Given the description of an element on the screen output the (x, y) to click on. 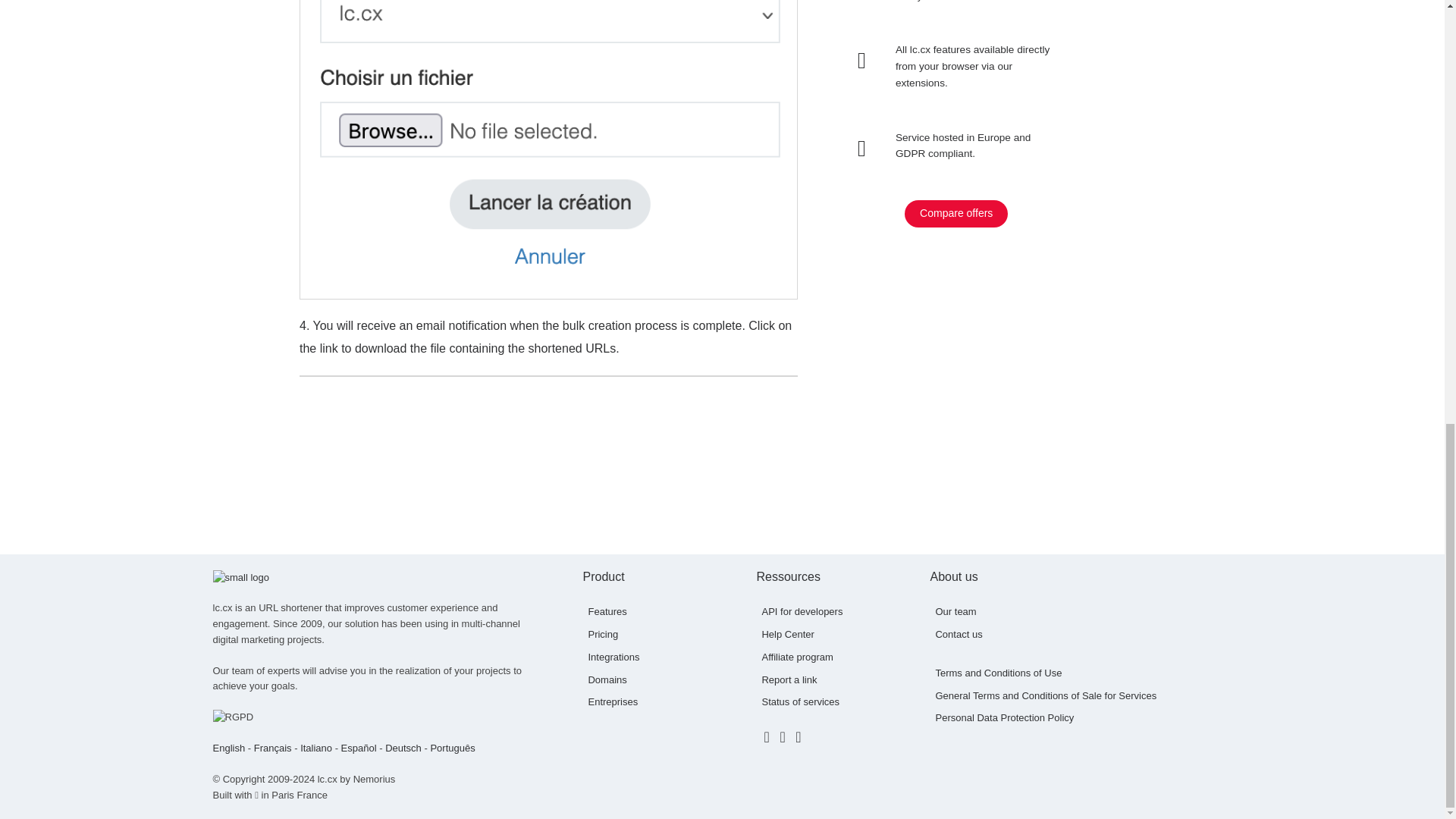
Compare offers (955, 213)
Report a link (788, 679)
Entreprises (612, 701)
Features (607, 611)
English (228, 747)
API for developers (802, 611)
Integrations (613, 656)
Deutsch (403, 747)
Domains (607, 679)
Italiano (315, 747)
Pricing (602, 633)
Affiliate program (796, 656)
Help Center (787, 633)
